Given the description of an element on the screen output the (x, y) to click on. 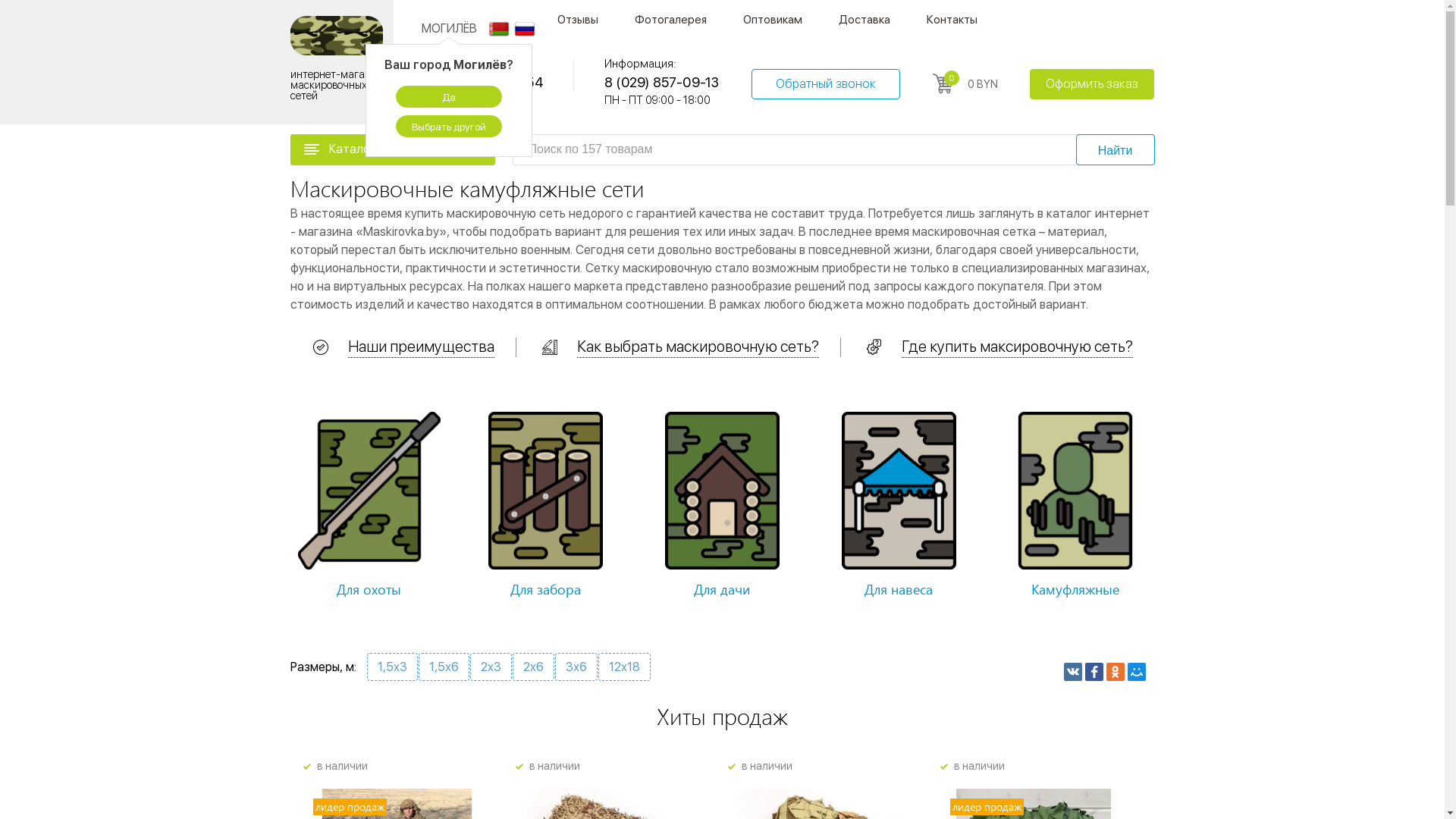
Facebook Element type: hover (1093, 671)
0 Element type: text (942, 83)
